Given the description of an element on the screen output the (x, y) to click on. 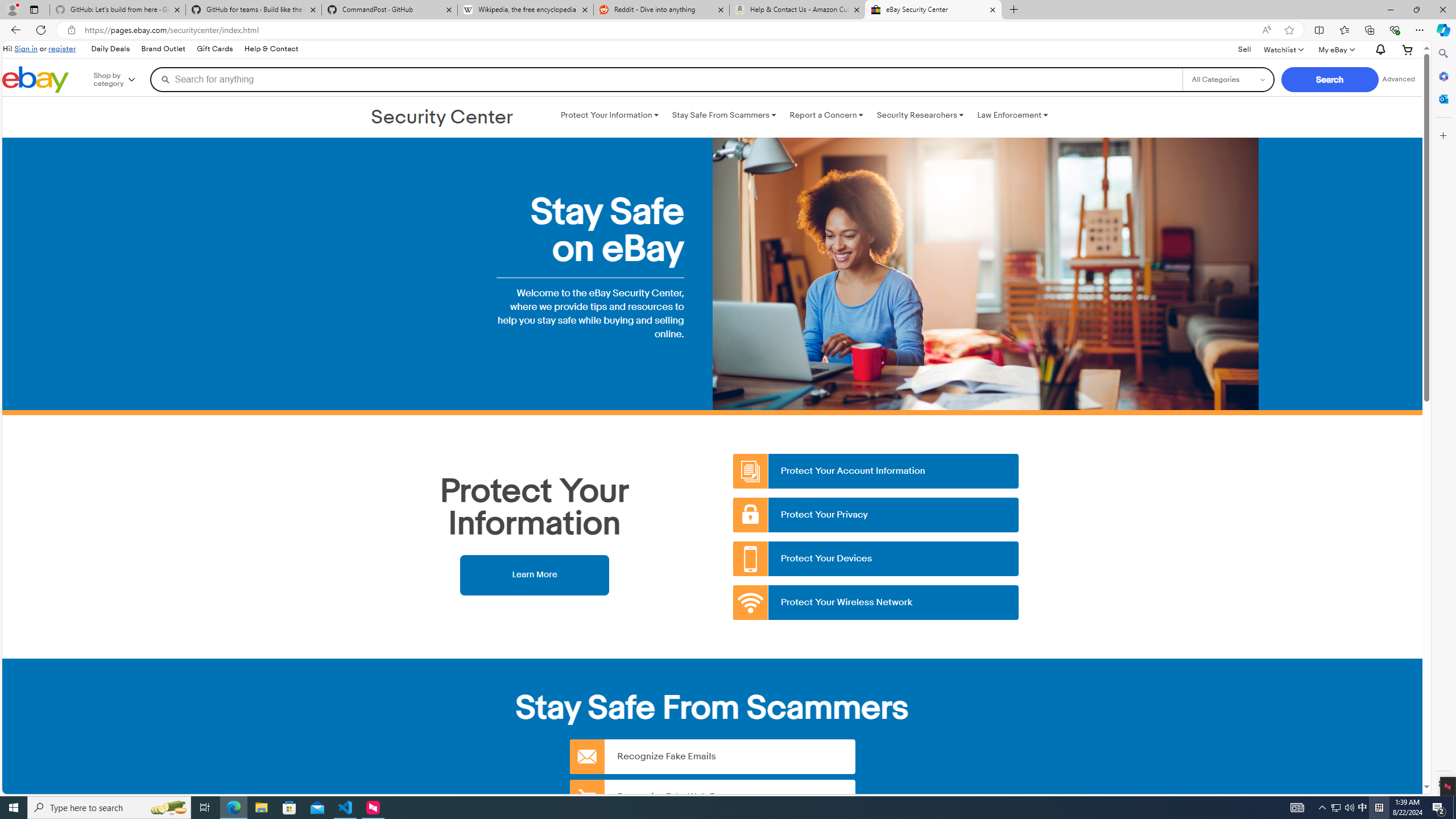
Select a category for search (1228, 78)
Daily Deals (109, 49)
Expand Cart (1407, 49)
